Given the description of an element on the screen output the (x, y) to click on. 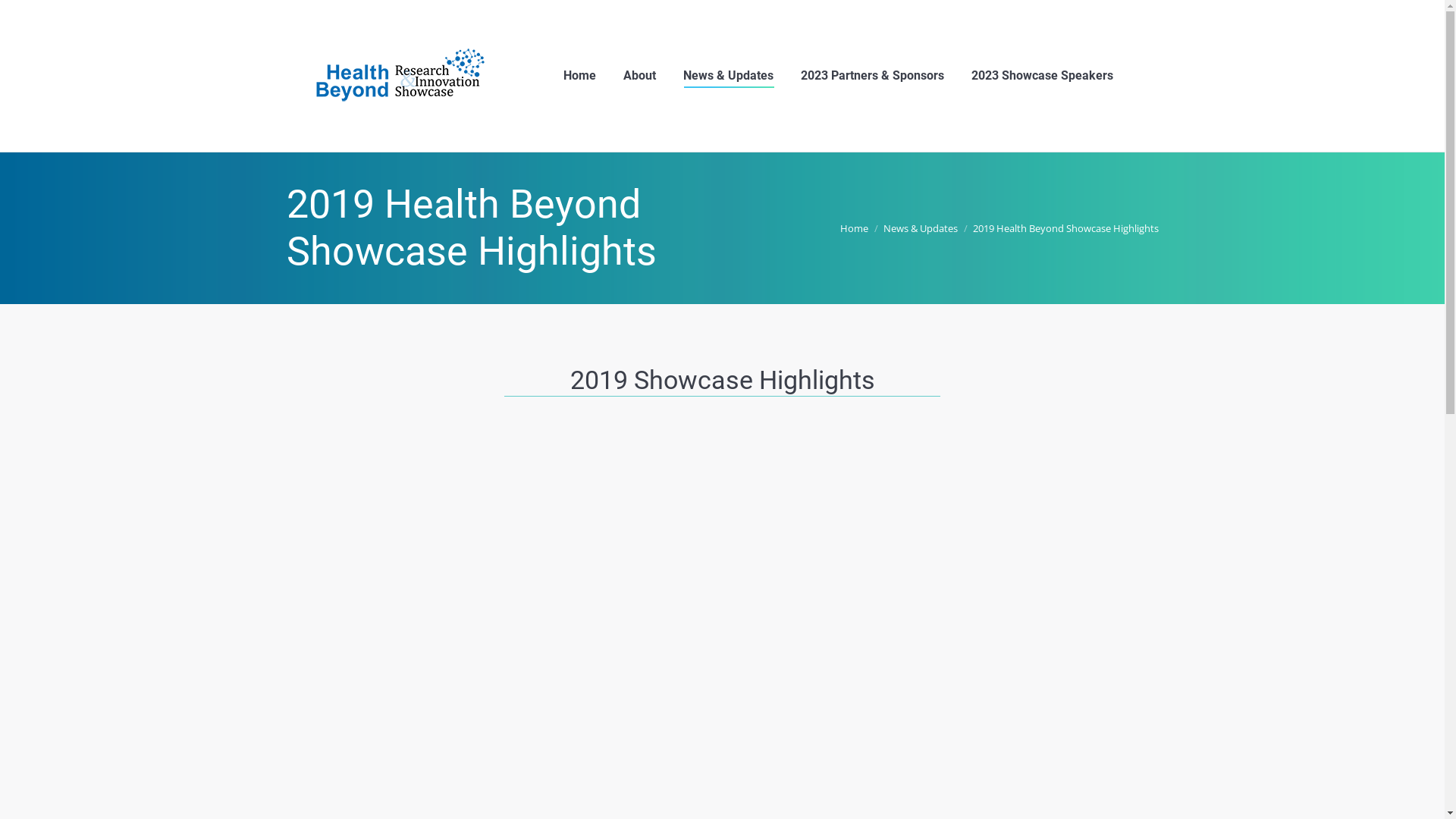
2023 Showcase Speakers Element type: text (1041, 75)
News & Updates Element type: text (727, 75)
About Element type: text (639, 75)
News & Updates Element type: text (919, 228)
Home Element type: text (578, 75)
2023 Partners & Sponsors Element type: text (872, 75)
Home Element type: text (854, 228)
